Given the description of an element on the screen output the (x, y) to click on. 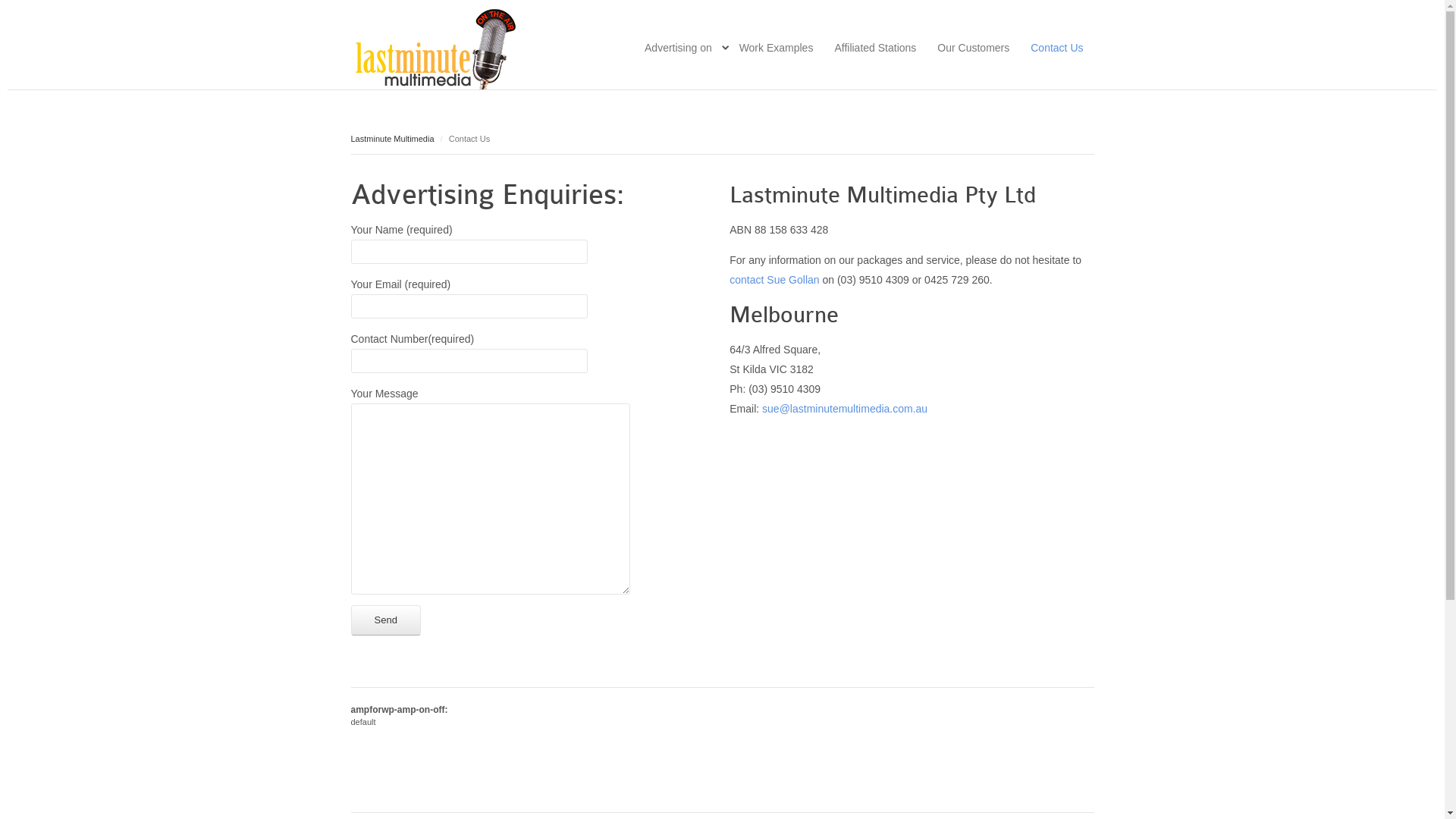
Lastminute Multimedia Element type: text (391, 138)
Our Customers Element type: text (972, 47)
Work Examples Element type: text (776, 47)
Affiliated Stations Element type: text (874, 47)
Contact Us Element type: text (1056, 47)
contact Sue Gollan Element type: text (774, 279)
sue@lastminutemultimedia.com.au Element type: text (844, 408)
Send Element type: text (385, 620)
Advertising on Element type: text (677, 47)
